Given the description of an element on the screen output the (x, y) to click on. 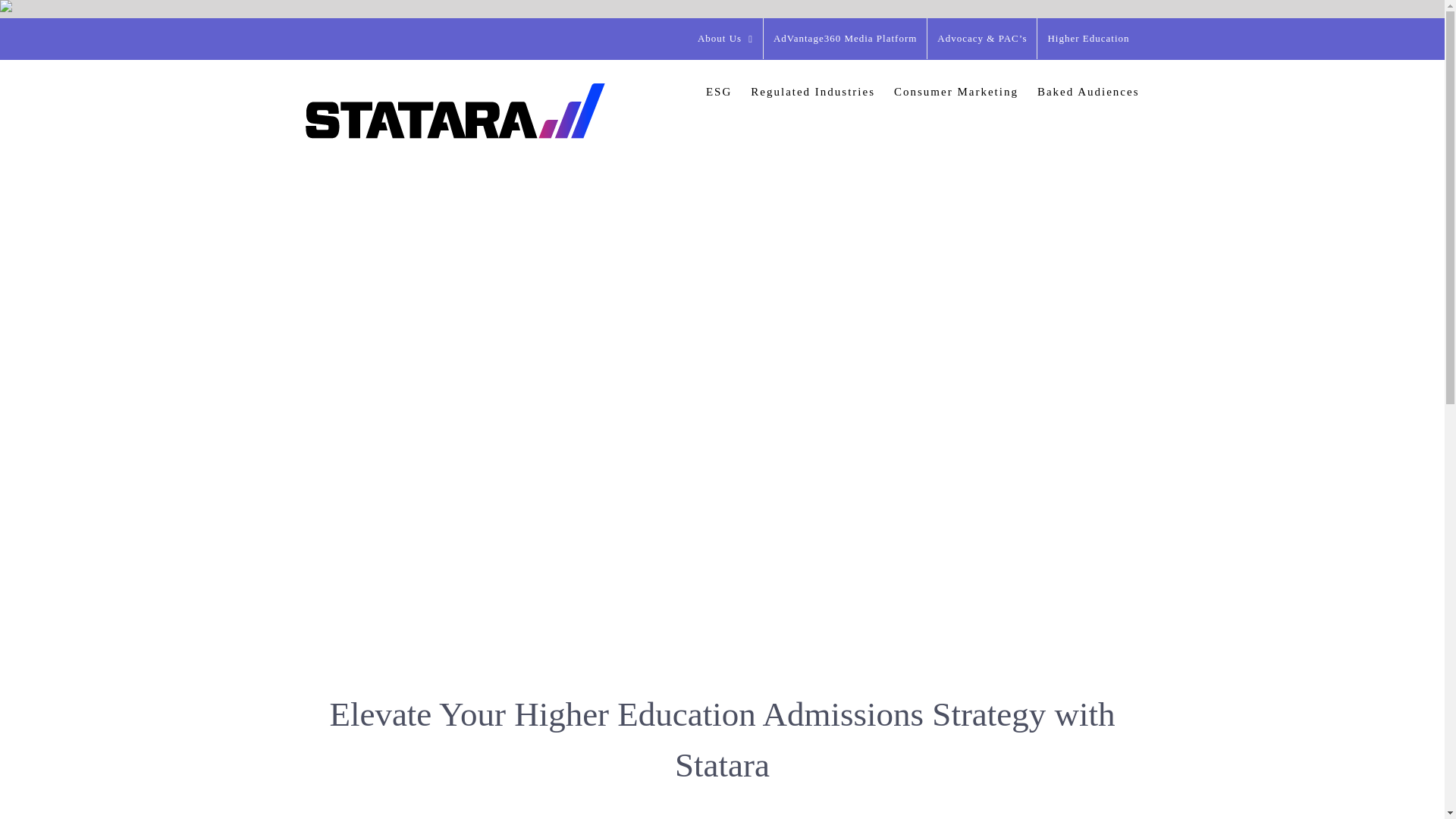
Baked Audiences (1088, 91)
AdVantage360 Media Platform (844, 38)
About Us (724, 38)
Regulated Industries (813, 91)
Higher Education (1087, 38)
Consumer Marketing (955, 91)
